Given the description of an element on the screen output the (x, y) to click on. 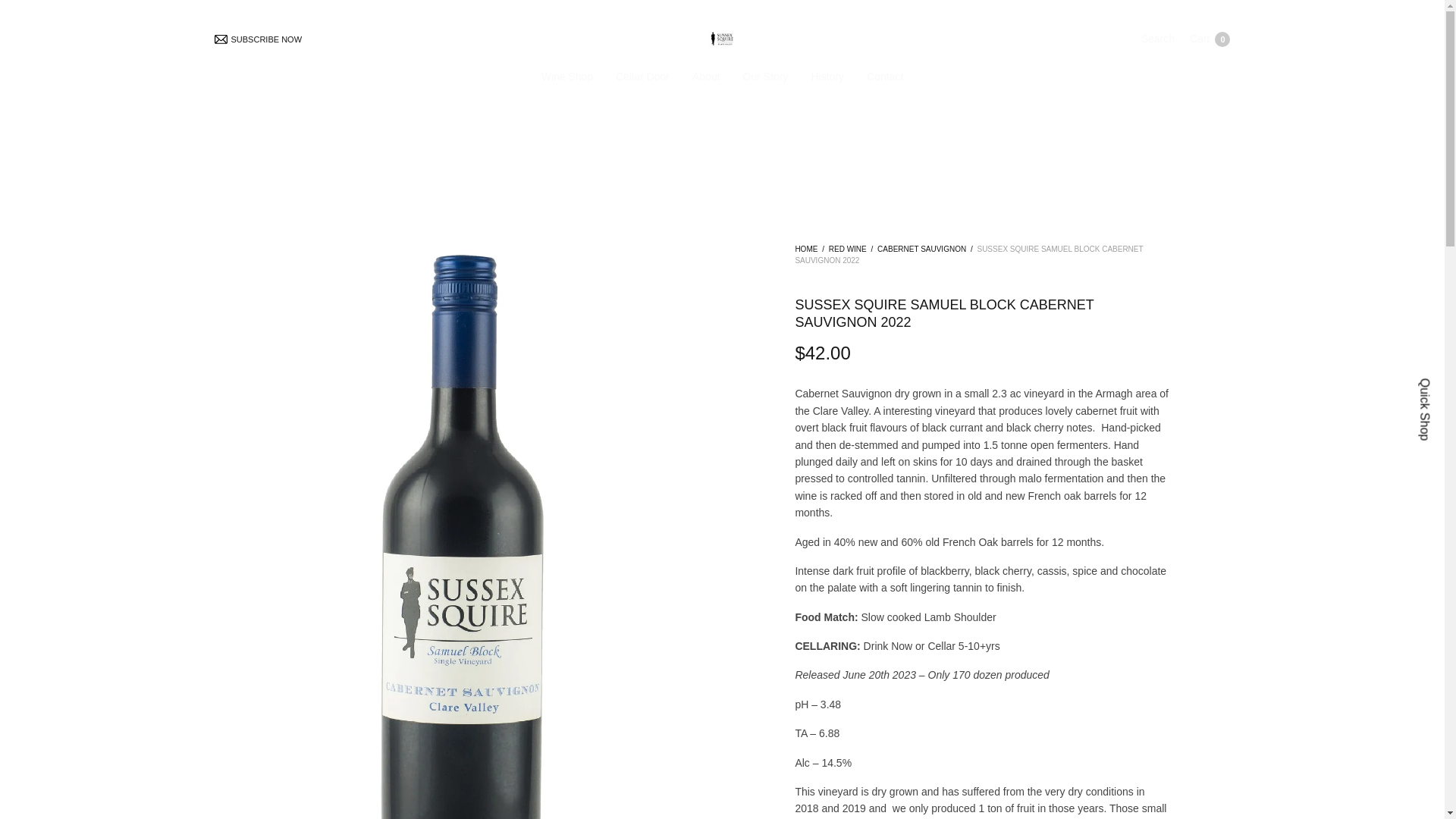
RED WINE (847, 248)
History (827, 76)
Contact (884, 76)
Search (1157, 38)
Cart (1209, 38)
SUBSCRIBE NOW (1209, 38)
CABERNET SAUVIGNON (375, 39)
Our Story (921, 248)
Cellar Door (765, 76)
HOME (642, 76)
Wine Shop (805, 248)
